Given the description of an element on the screen output the (x, y) to click on. 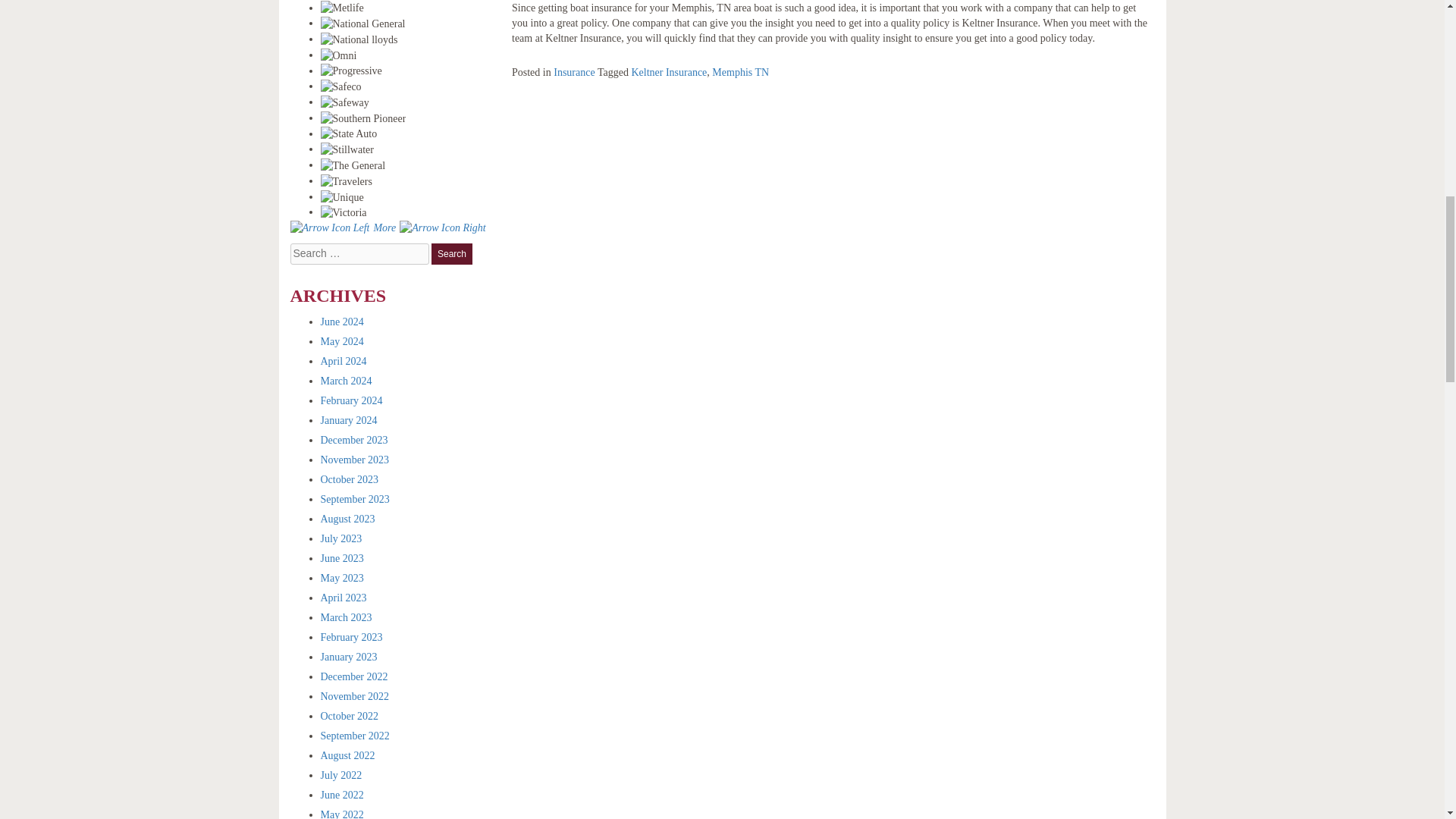
March 2024 (345, 380)
June 2024 (341, 321)
May 2024 (341, 341)
Insurance (573, 71)
January 2024 (348, 419)
April 2024 (343, 360)
Search (450, 253)
Keltner Insurance (668, 71)
February 2024 (350, 400)
Search (450, 253)
More (386, 227)
Memphis TN (739, 71)
Search (450, 253)
